Given the description of an element on the screen output the (x, y) to click on. 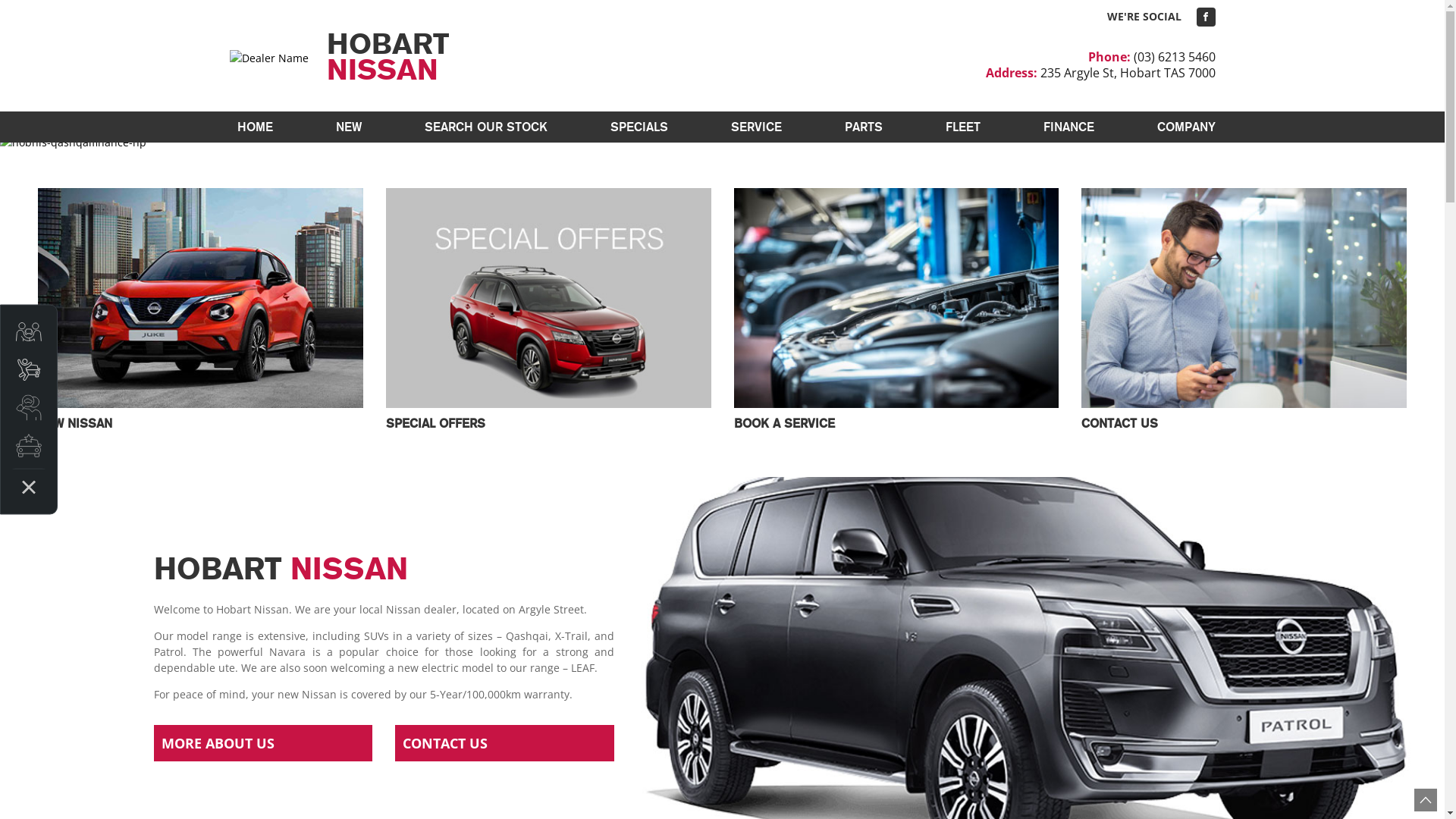
MORE ABOUT US Element type: text (262, 742)
FLEET Element type: text (962, 126)
SEARCH OUR STOCK Element type: text (486, 126)
NEW Element type: text (347, 126)
PARTS Element type: text (863, 126)
HOME Element type: text (254, 126)
SPECIALS Element type: text (638, 126)
235 Argyle St, Hobart TAS 7000 Element type: text (1127, 72)
COMPANY Element type: text (1182, 126)
FINANCE Element type: text (1068, 126)
(03) 6213 5460 Element type: text (1173, 56)
SERVICE Element type: text (756, 126)
CONTACT US Element type: text (504, 742)
